Given the description of an element on the screen output the (x, y) to click on. 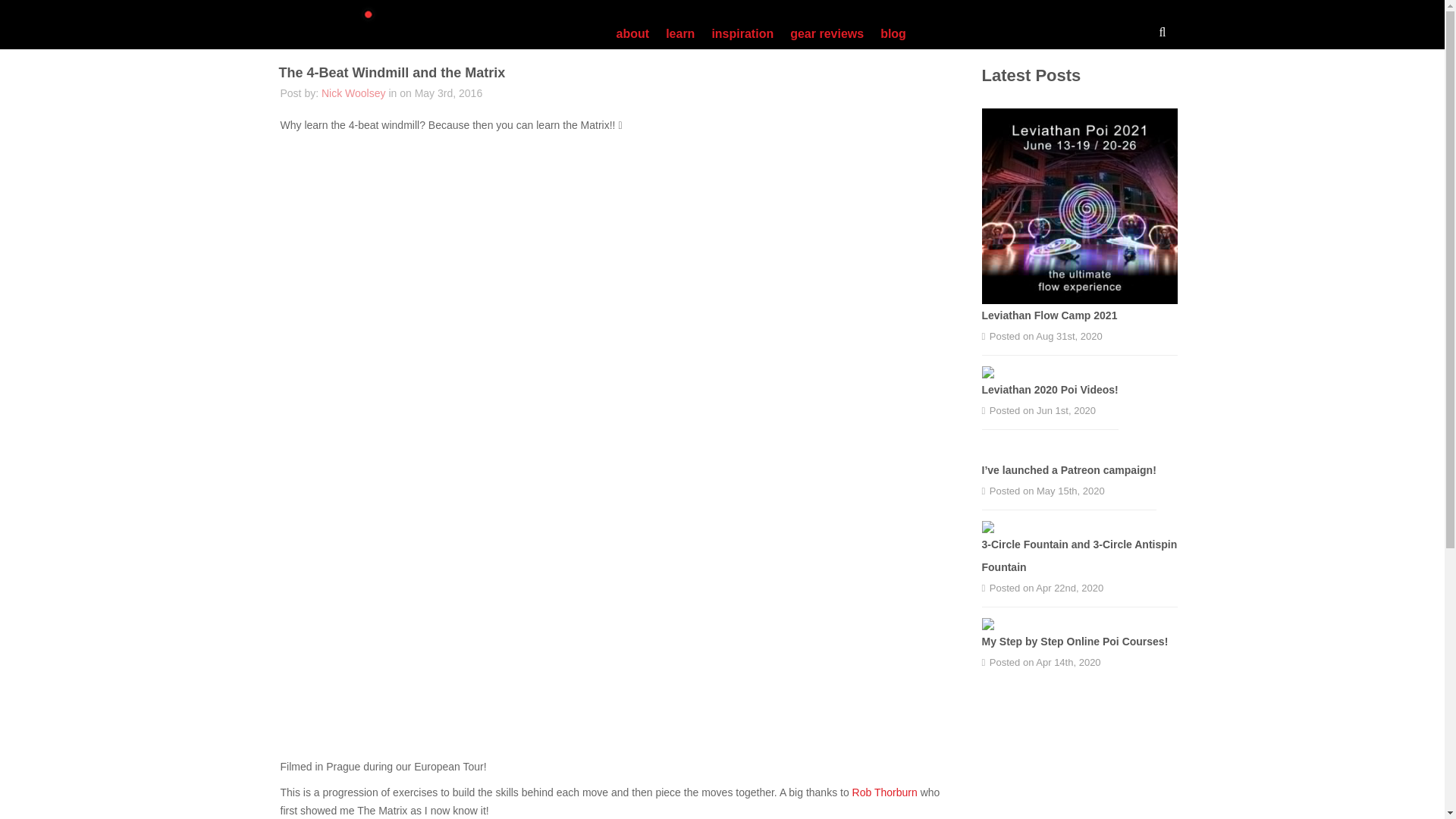
Nick Woolsey (353, 92)
My Step by Step Online Poi Courses! (1074, 641)
4-beat windmill, matrix move, colecord, and more... (475, 289)
Posts by Nick Woolsey (353, 92)
inspiration (741, 33)
Rob Thorburn (884, 792)
Leviathan Flow Camp 2021 (1048, 315)
Leviathan 2020 Poi Videos! (1049, 389)
3-Circle Fountain and 3-Circle Antispin Fountain (1078, 555)
gear reviews (826, 33)
